Given the description of an element on the screen output the (x, y) to click on. 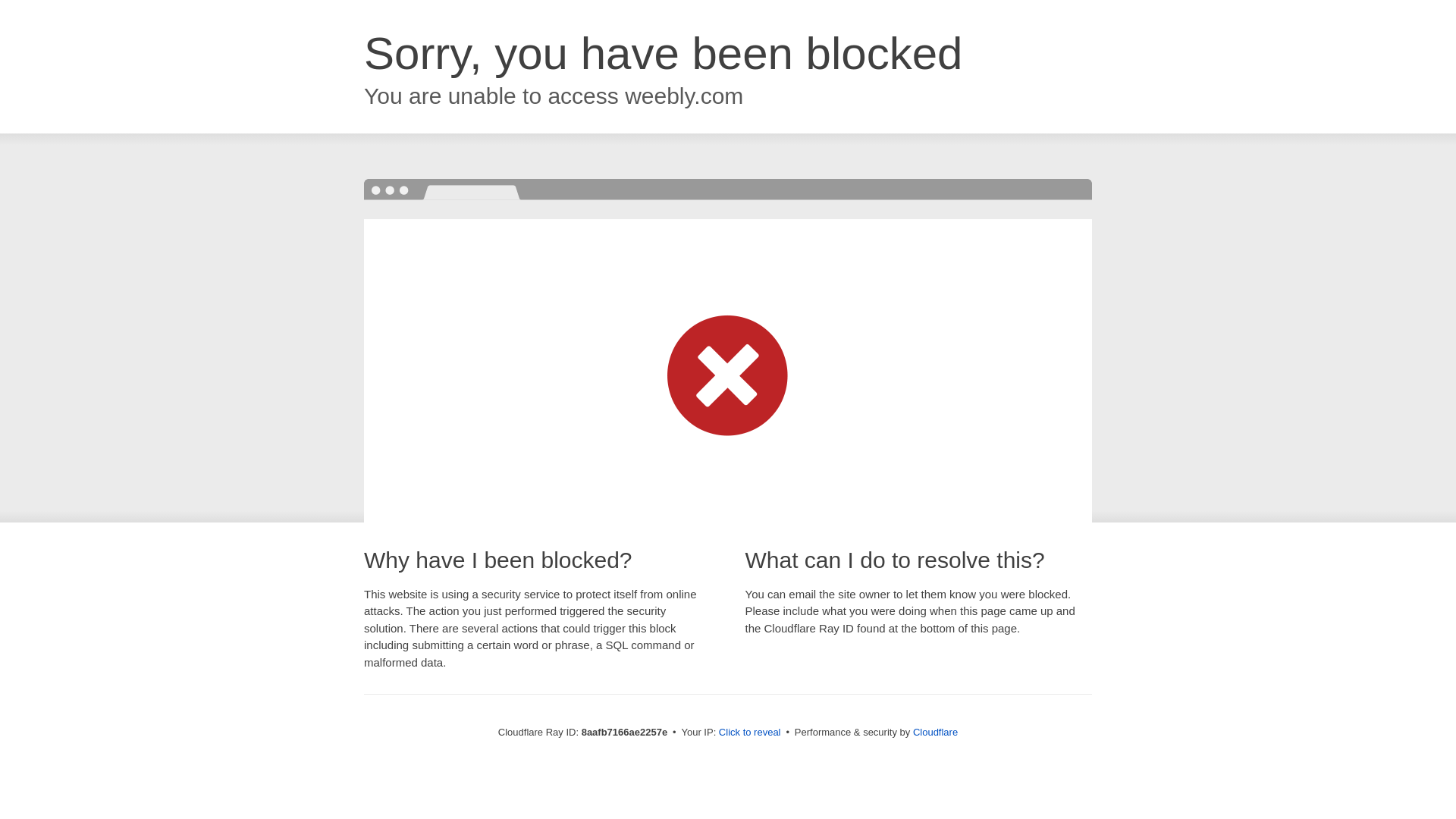
Click to reveal (749, 732)
Cloudflare (935, 731)
